Given the description of an element on the screen output the (x, y) to click on. 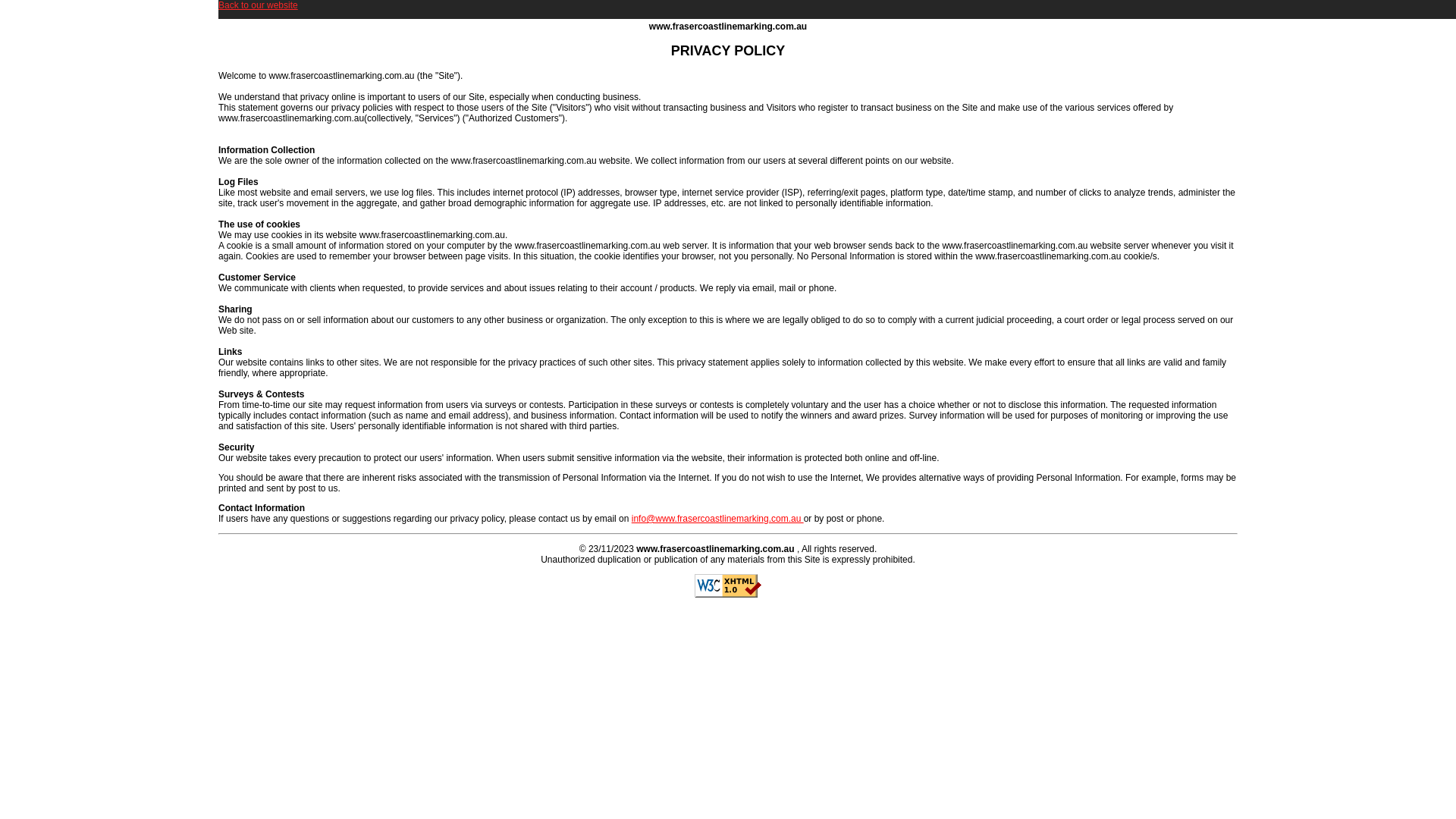
Back to our website Element type: text (258, 5)
info@www.frasercoastlinemarking.com.au Element type: text (717, 518)
